Given the description of an element on the screen output the (x, y) to click on. 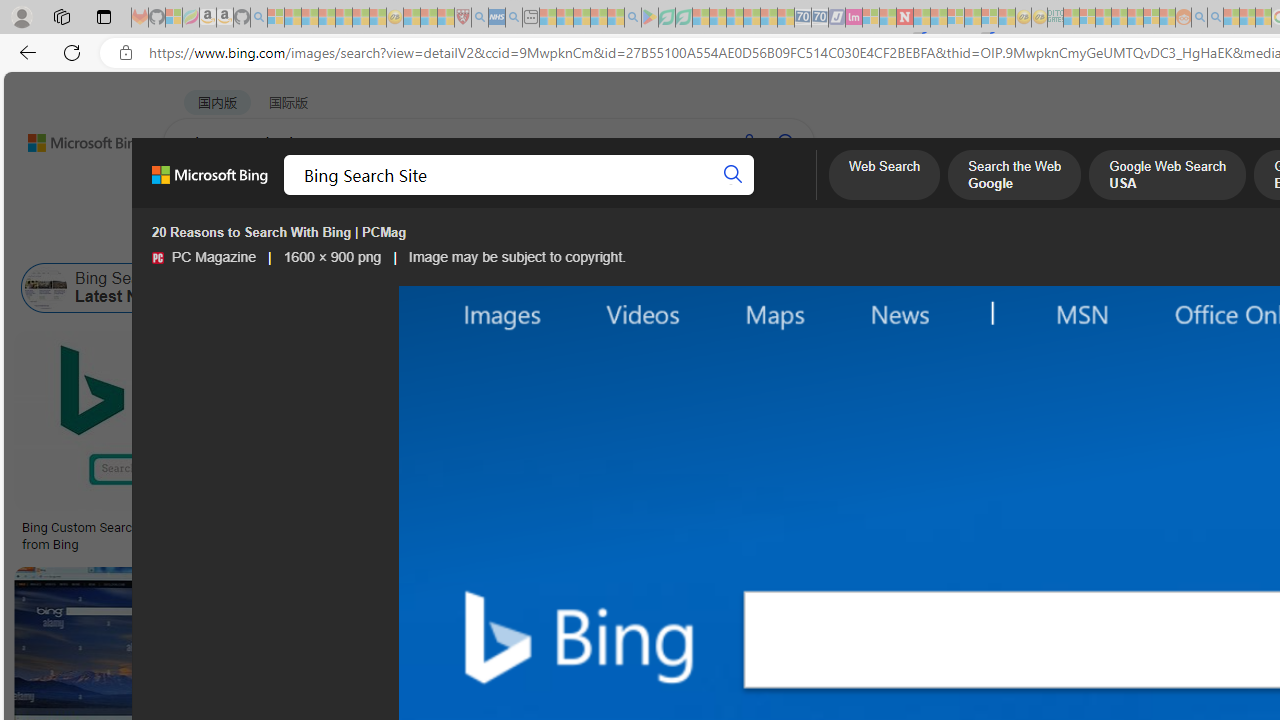
People (521, 237)
Kinda Frugal - MSN - Sleeping (1135, 17)
Google Web Search USA (1166, 177)
